Given the description of an element on the screen output the (x, y) to click on. 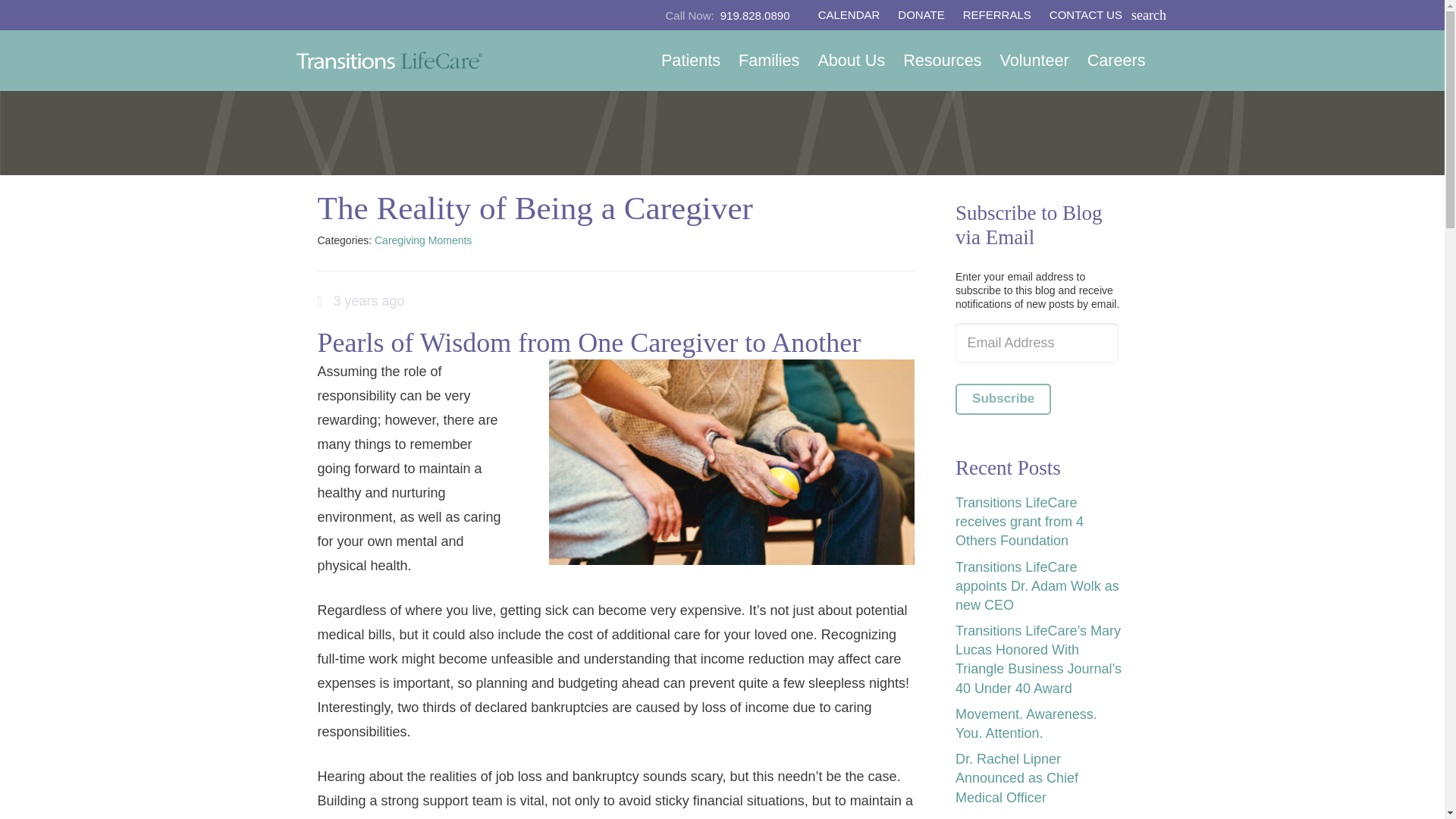
search (1146, 17)
DONATE (920, 15)
Resources (941, 60)
REFERRALS (997, 15)
919.828.0890 (727, 15)
Patients (690, 60)
About Us (850, 60)
CALENDAR (849, 15)
Families (768, 60)
Careers (1116, 60)
CONTACT US (1086, 15)
Volunteer (1033, 60)
